Given the description of an element on the screen output the (x, y) to click on. 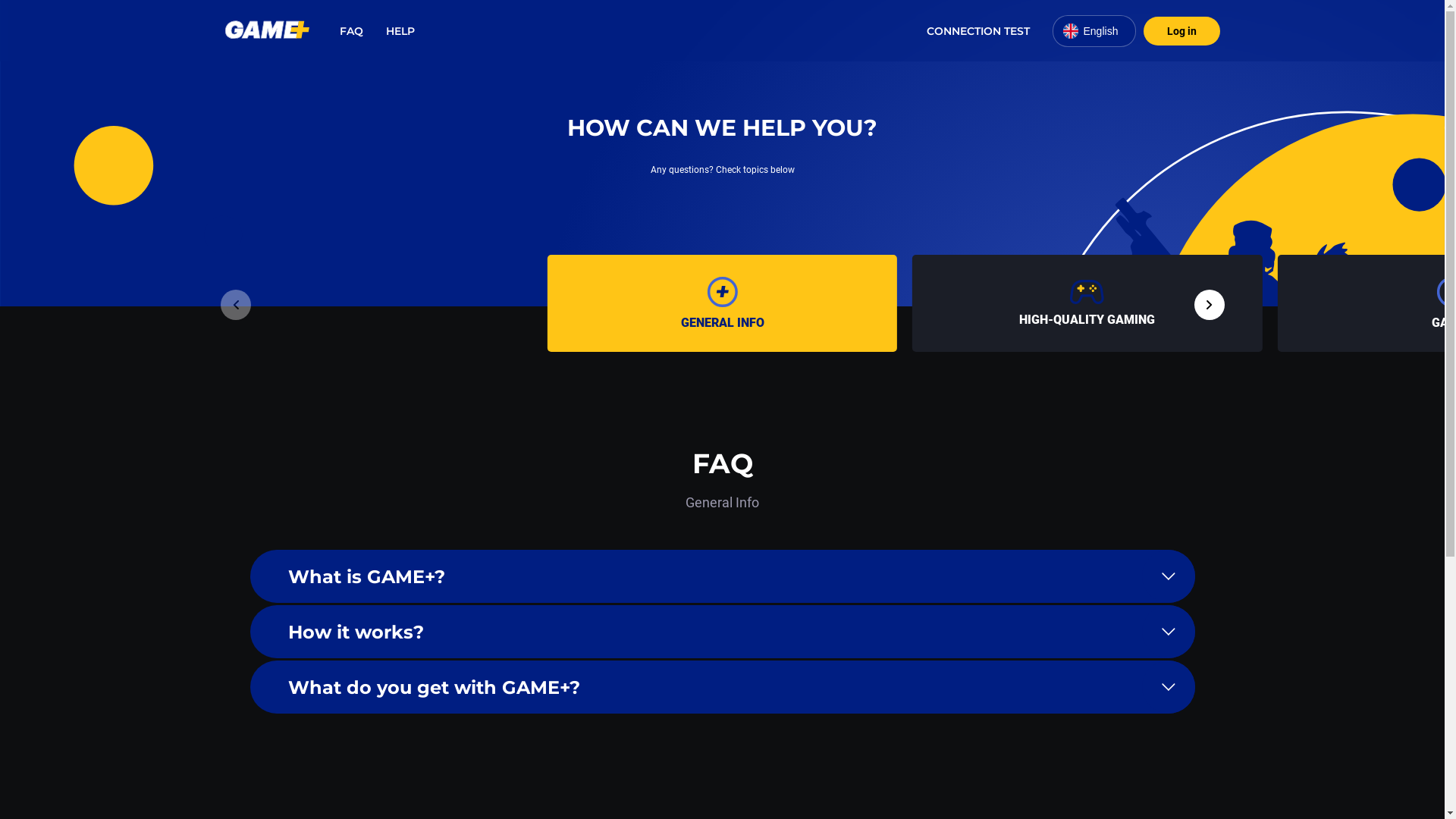
Log in Element type: text (1181, 30)
FAQ Element type: text (351, 30)
English Element type: text (1094, 29)
HELP Element type: text (399, 30)
CONNECTION TEST Element type: text (977, 30)
